Given the description of an element on the screen output the (x, y) to click on. 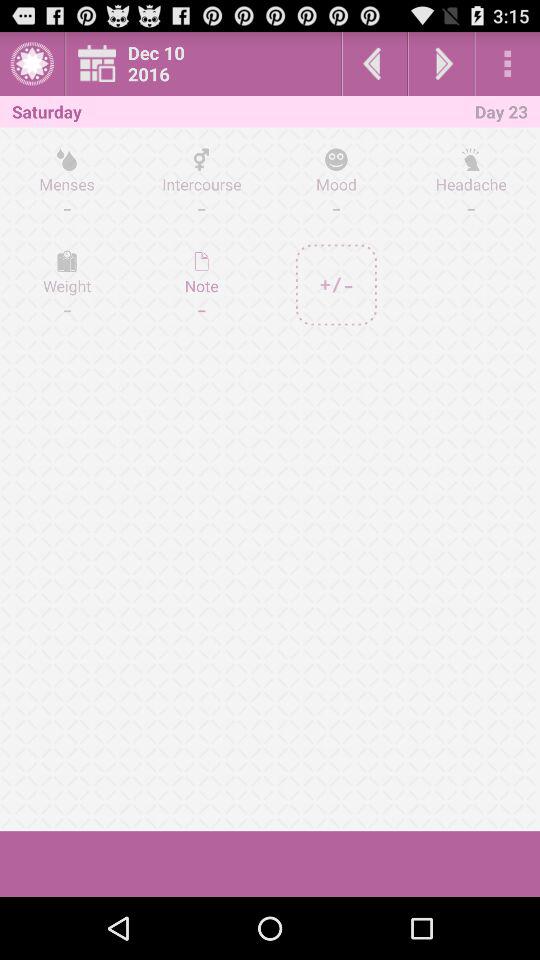
open menu (507, 63)
